Given the description of an element on the screen output the (x, y) to click on. 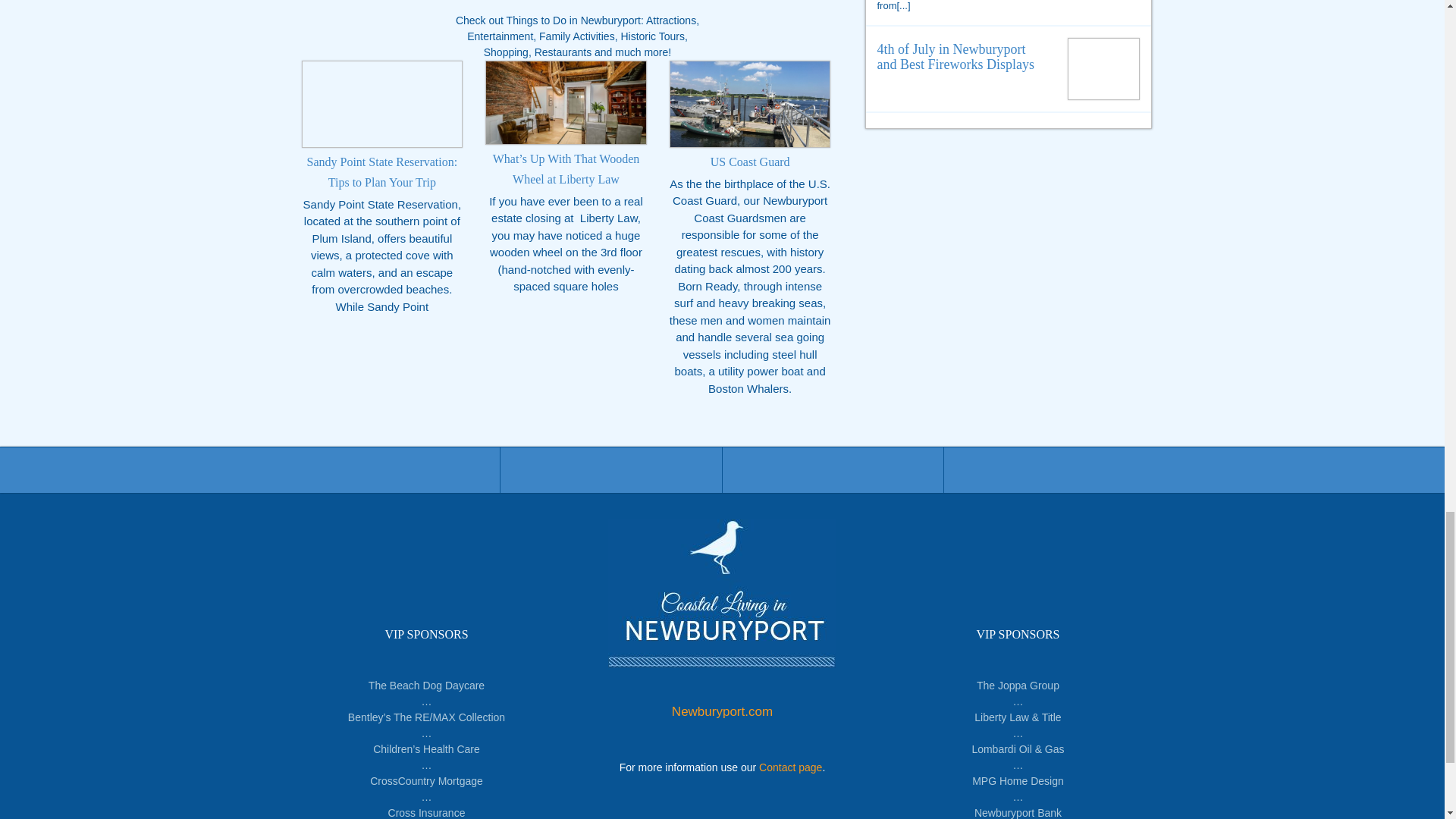
Fireworks in Portsmouth NH (1104, 64)
Sandy Point State Park - Plum Island, MA (381, 103)
